Given the description of an element on the screen output the (x, y) to click on. 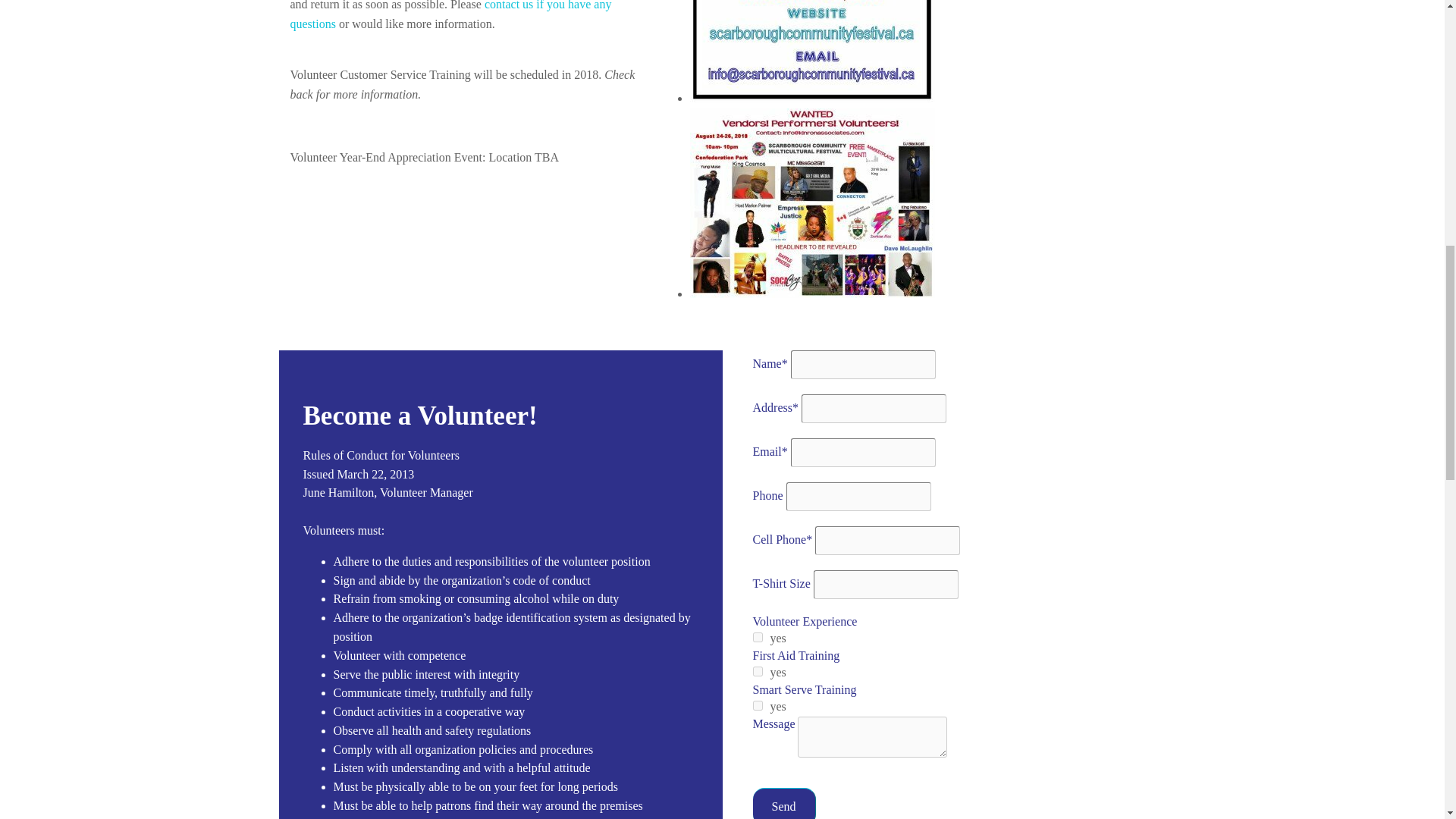
Send (783, 803)
yes (756, 705)
yes (756, 671)
yes (756, 637)
Send (783, 803)
contact us if you have any questions (450, 15)
